Given the description of an element on the screen output the (x, y) to click on. 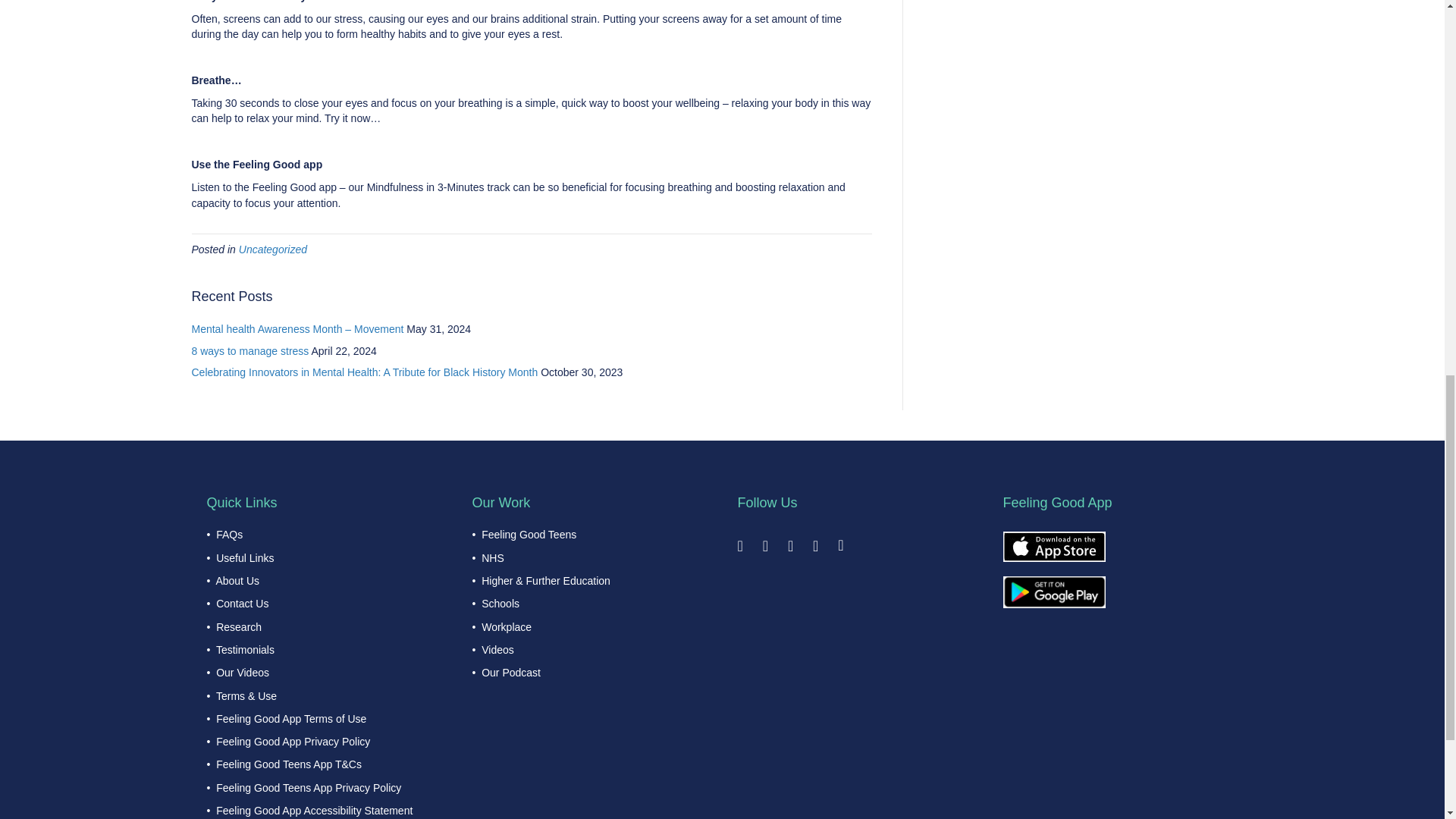
google-play-badge1 (1054, 592)
Uncategorized (272, 249)
Feeling Good App Accessibility Statement (313, 810)
Feeling Good Teens App Privacy Policy (308, 787)
Feeling Good App Terms of Use (290, 718)
Feeling Good App Privacy Policy (292, 741)
appstore (1054, 546)
8 ways to manage stress (249, 350)
